Given the description of an element on the screen output the (x, y) to click on. 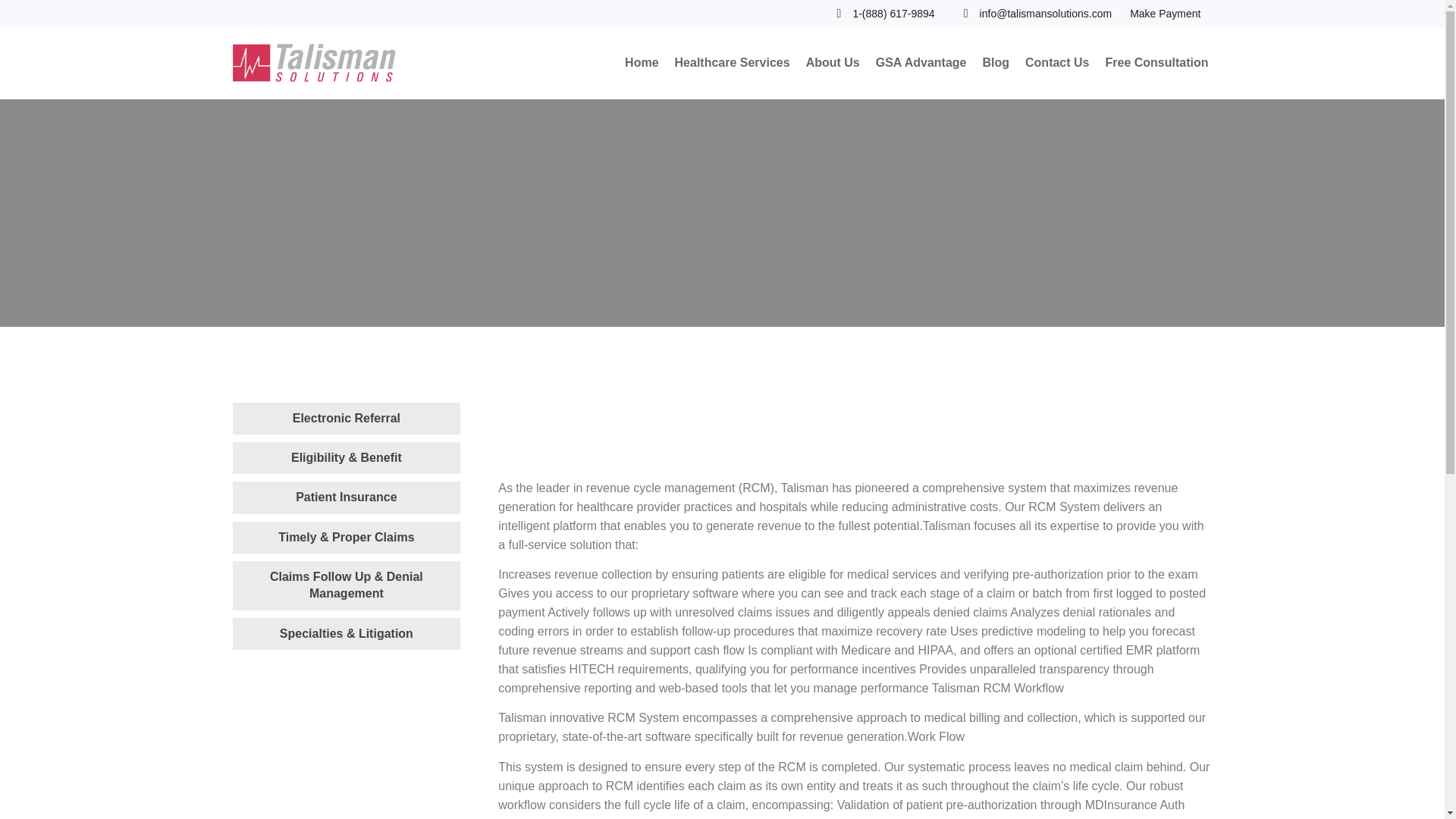
GSA Advantage (921, 63)
Healthcare Services (732, 63)
Make Payment (1164, 13)
Patient Insurance (345, 497)
Home (641, 63)
Electronic Referral (345, 418)
Free Consultation (1155, 63)
Contact Us (1057, 63)
About Us (832, 63)
